Given the description of an element on the screen output the (x, y) to click on. 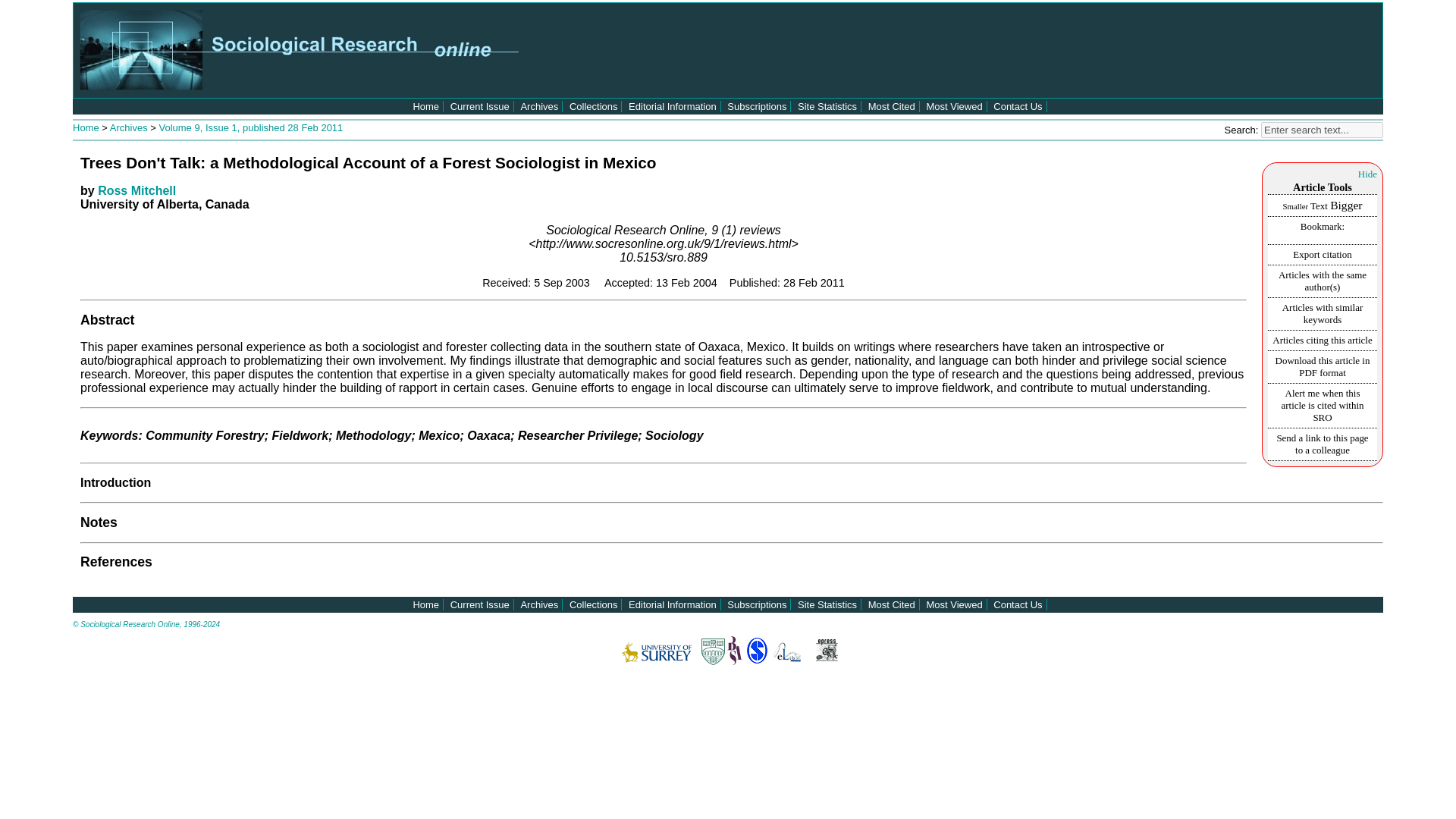
Collections of articles on a theme (593, 106)
Archives (538, 106)
Increase font size (1345, 205)
List of most-cited articles within SRO (891, 106)
Contents of back issues (538, 604)
Site Statistics (827, 106)
SRO Home Page (425, 106)
Editorial Board and how to submit an article (672, 604)
Download this article in PDF format (1322, 366)
Enter search text... (1321, 130)
Home (86, 127)
Most Cited (891, 106)
Subscriptions (756, 106)
Editorial Information (672, 106)
Contents of back issues (538, 106)
